Given the description of an element on the screen output the (x, y) to click on. 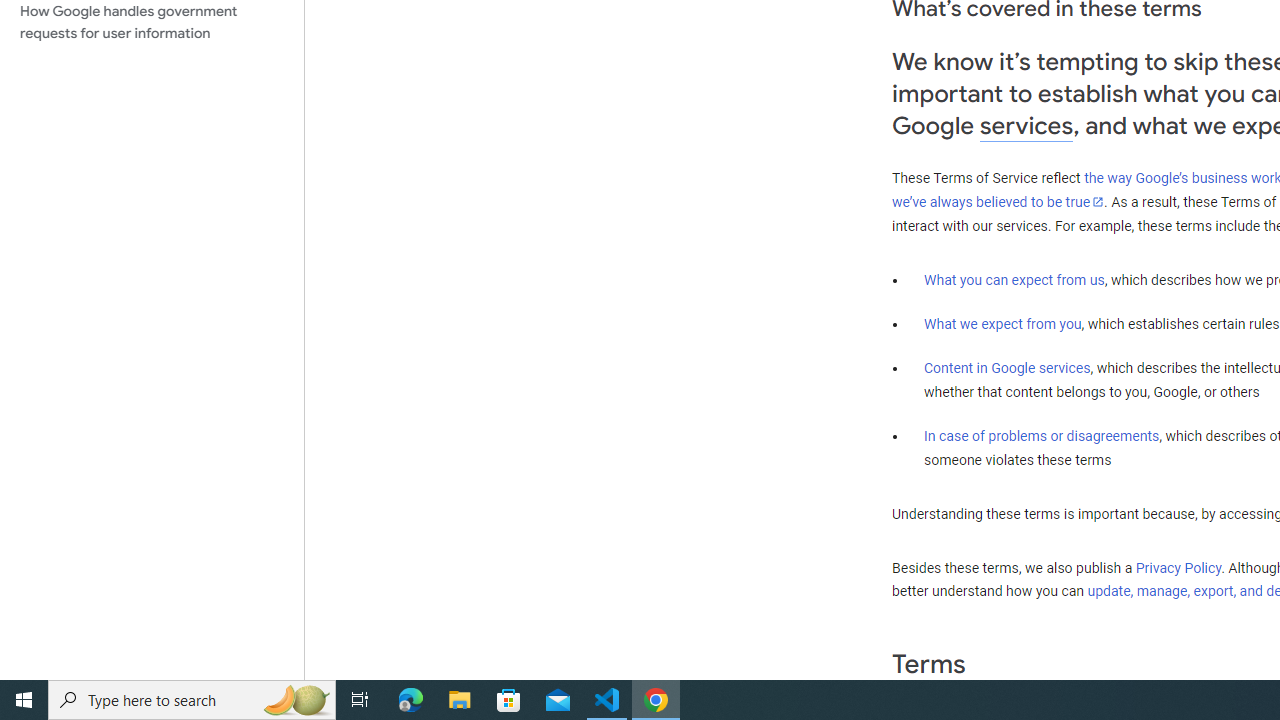
What you can expect from us (1014, 279)
What we expect from you (1002, 323)
Content in Google services (1007, 368)
In case of problems or disagreements (1041, 435)
services (1026, 125)
